Given the description of an element on the screen output the (x, y) to click on. 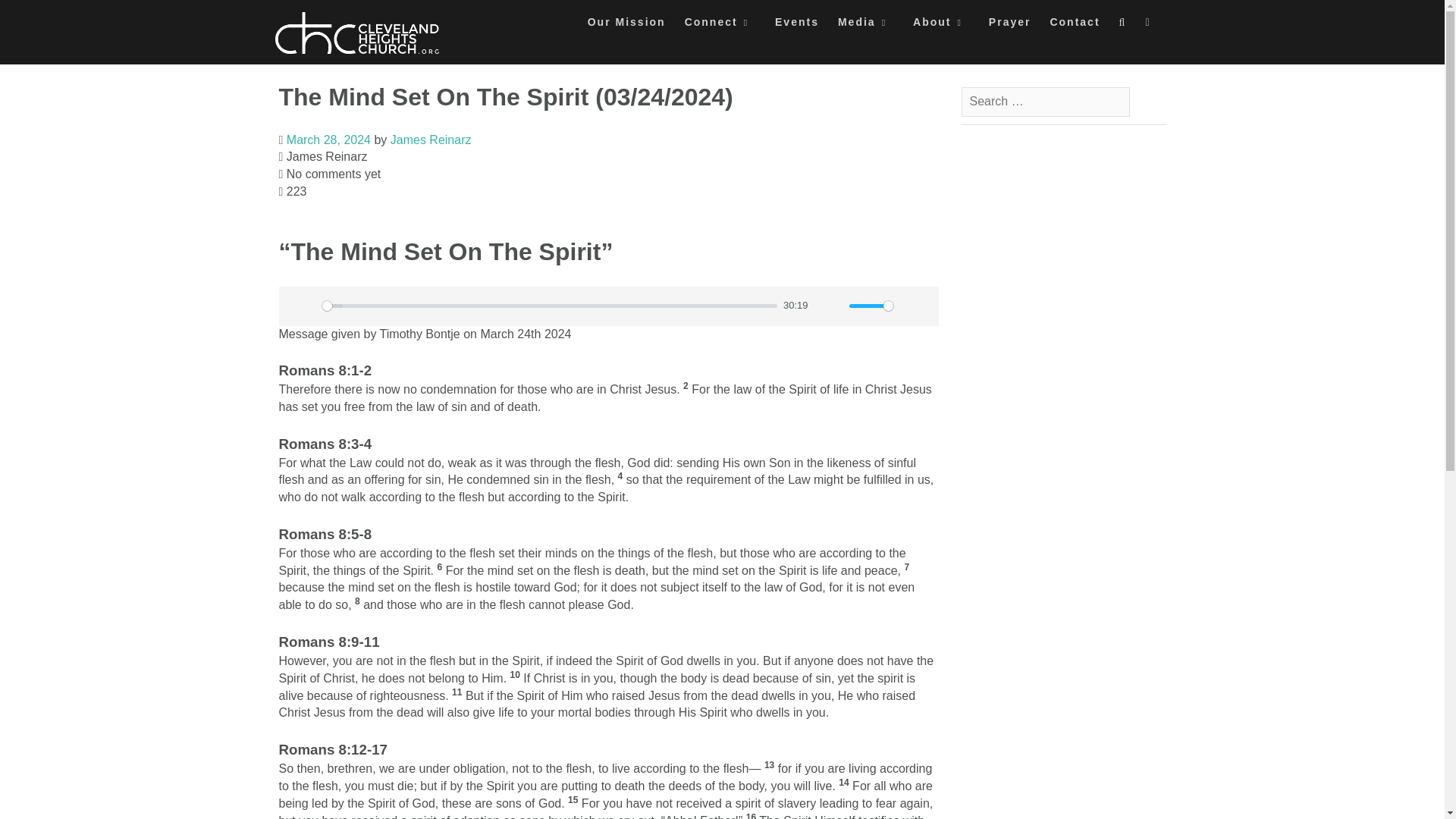
Our Mission (626, 25)
Play (298, 306)
Events (796, 25)
0 (549, 305)
March 28, 2024 (328, 139)
1 (870, 305)
Prayer (1009, 25)
Settings (911, 306)
Search (26, 16)
Contact (1074, 25)
